Given the description of an element on the screen output the (x, y) to click on. 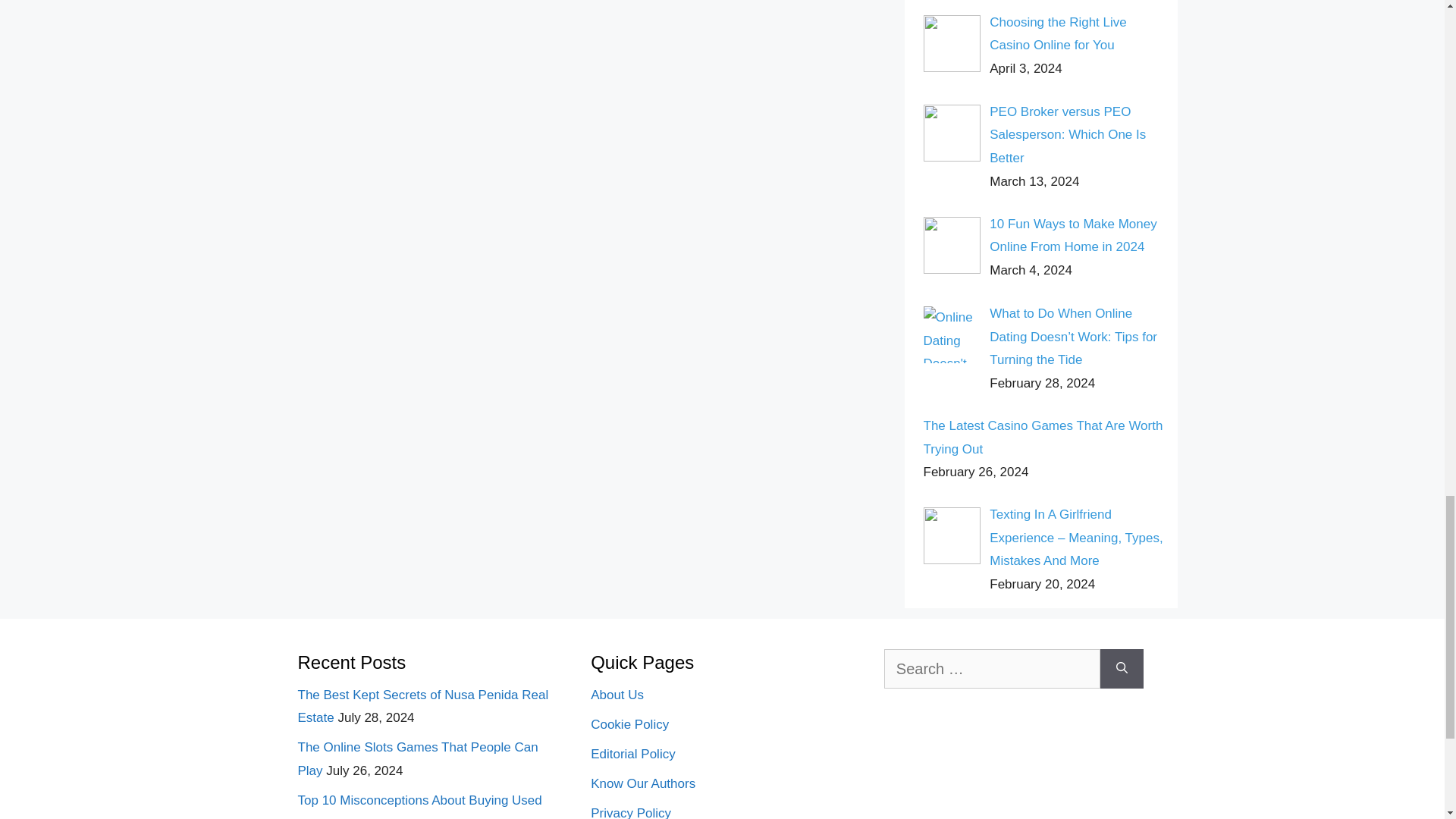
Search for: (991, 668)
Choosing the Right Live Casino Online for You (1058, 34)
The Latest Casino Games That Are Worth Trying Out (1043, 437)
10 Fun Ways to Make Money Online From Home in 2024 (1073, 235)
PEO Broker versus PEO Salesperson: Which One Is Better (1067, 134)
